Given the description of an element on the screen output the (x, y) to click on. 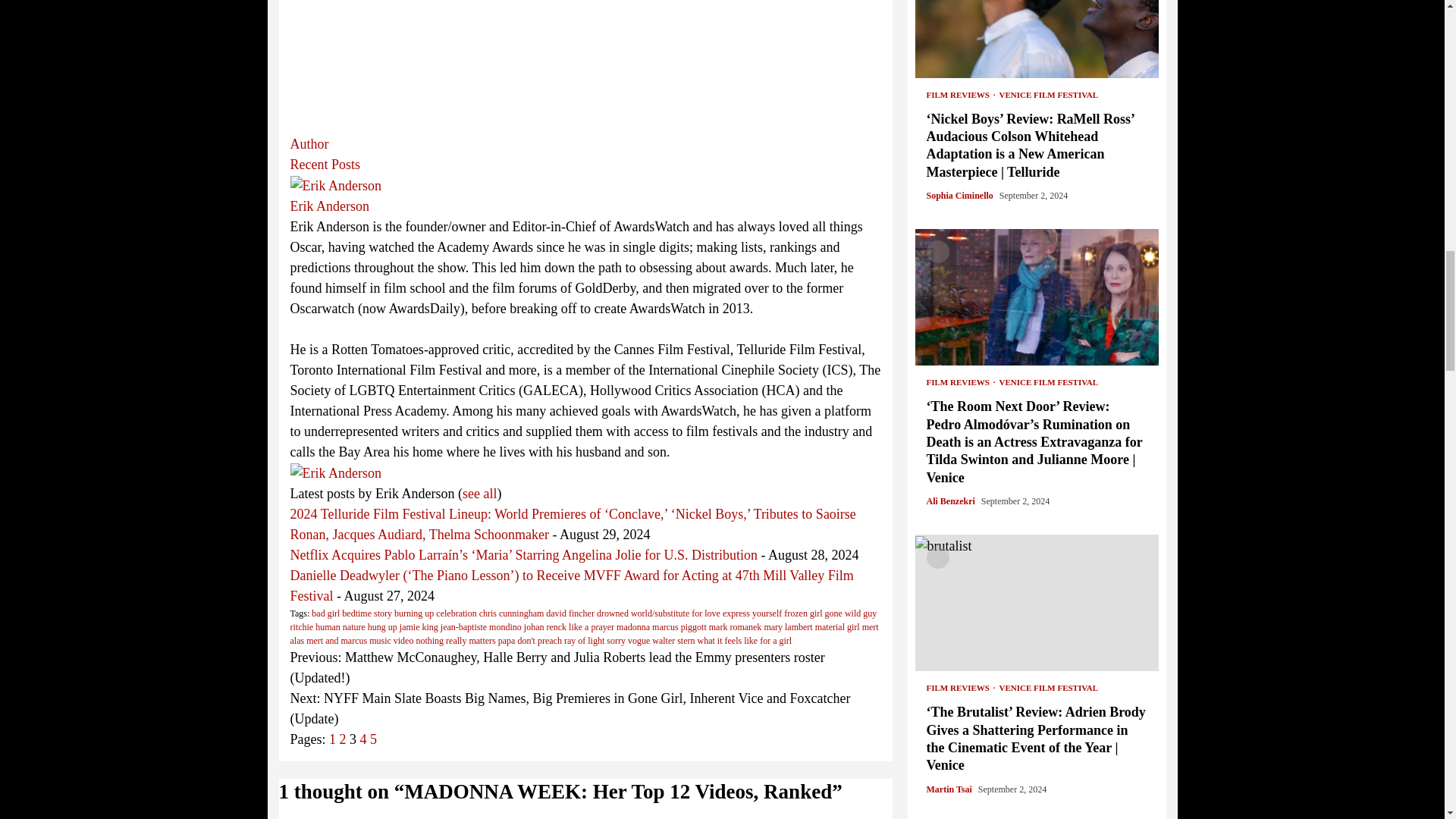
YouTube video player (586, 63)
Erik Anderson (334, 472)
Erik Anderson (334, 184)
